Given the description of an element on the screen output the (x, y) to click on. 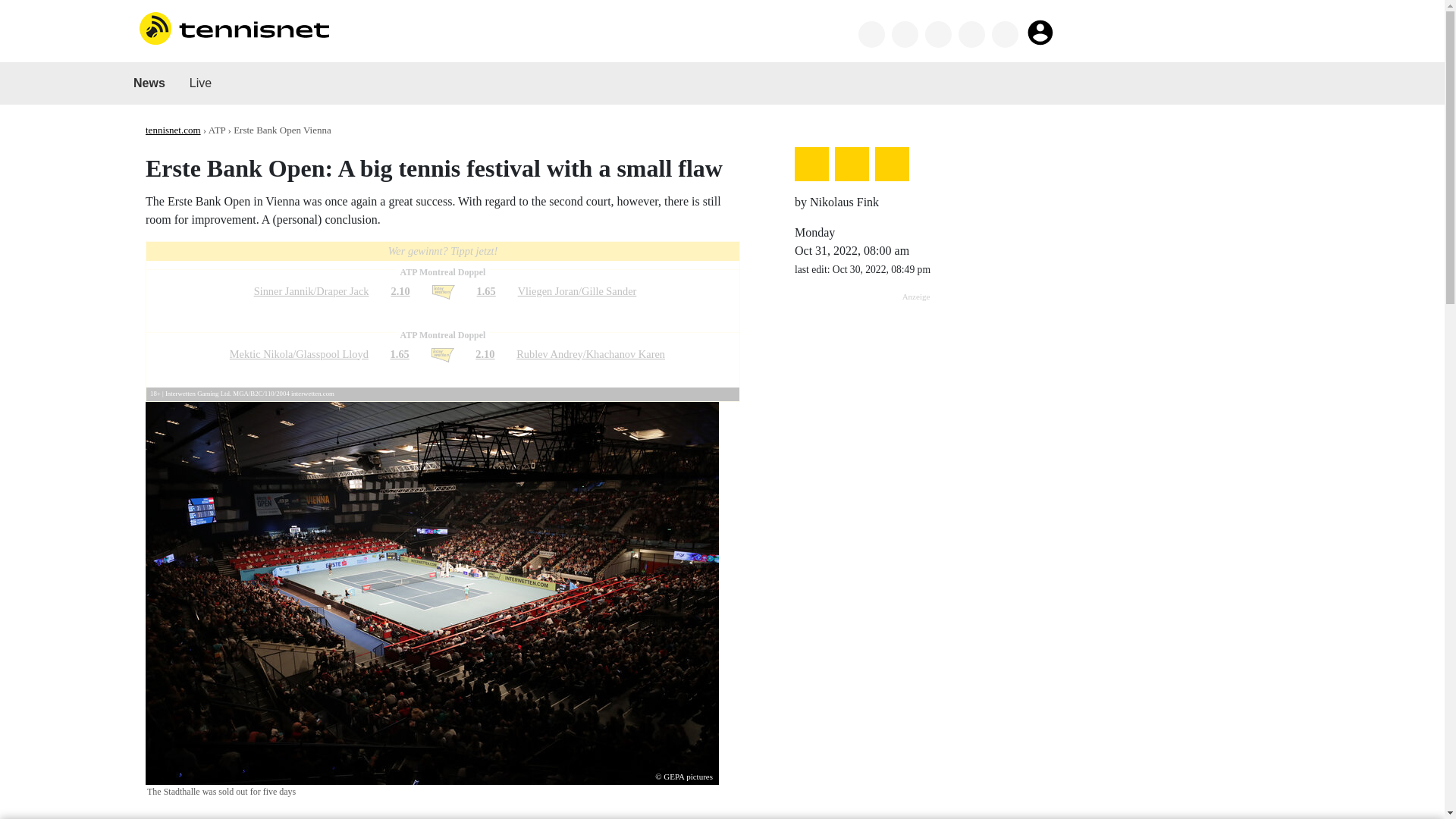
tennisnet.com (172, 129)
Suchen (872, 34)
Tennisnet auf Instagram (971, 34)
Homepage tennisnet.com (234, 26)
Live (200, 83)
News (148, 83)
Tennisnet auf Facebook (904, 34)
2.10 (399, 291)
Tennisnet.com auf Youtube (1004, 34)
1.65 (399, 354)
UBITENNIS (783, 31)
Share on Twitter (811, 163)
1.65 (486, 291)
UBITENNIS (732, 31)
UBITENNIS (758, 31)
